Given the description of an element on the screen output the (x, y) to click on. 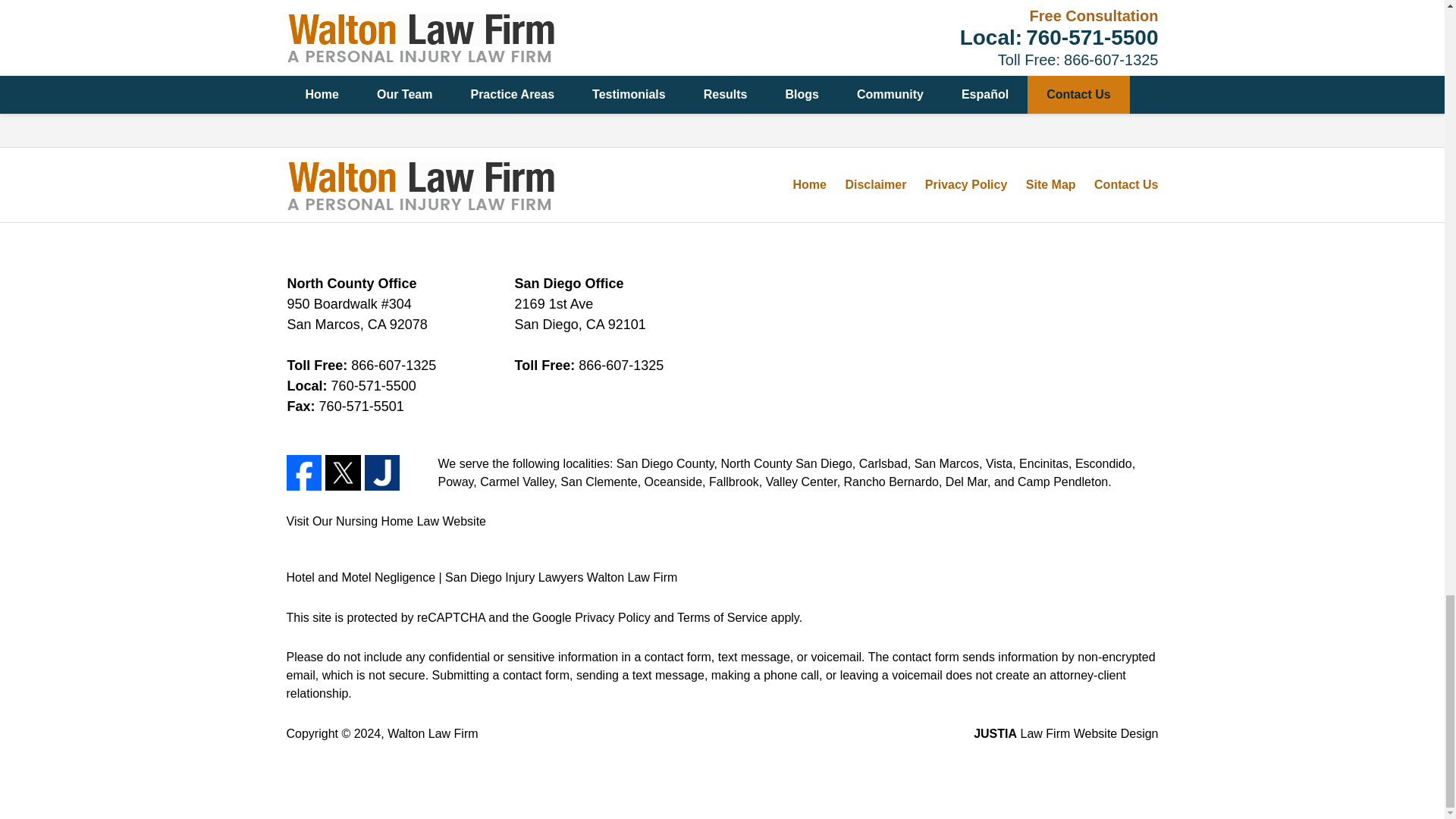
Facebook (303, 472)
Justia (382, 472)
Twitter (342, 472)
